Given the description of an element on the screen output the (x, y) to click on. 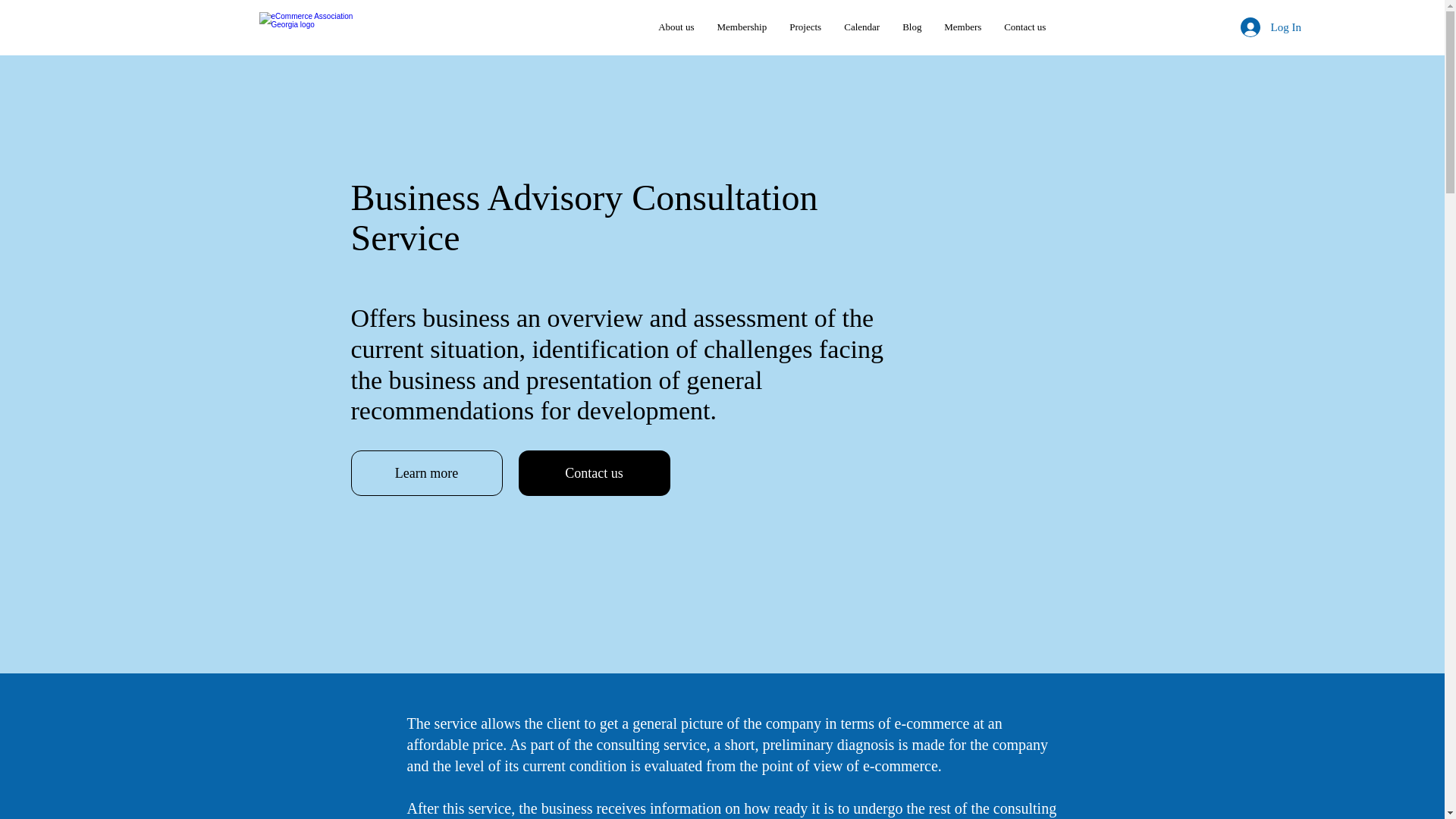
Blog (912, 27)
Learn more (426, 473)
About us (675, 27)
Calendar (861, 27)
Members (962, 27)
Membership (740, 27)
Contact us (1024, 27)
Contact us (593, 473)
Log In (1270, 27)
